Given the description of an element on the screen output the (x, y) to click on. 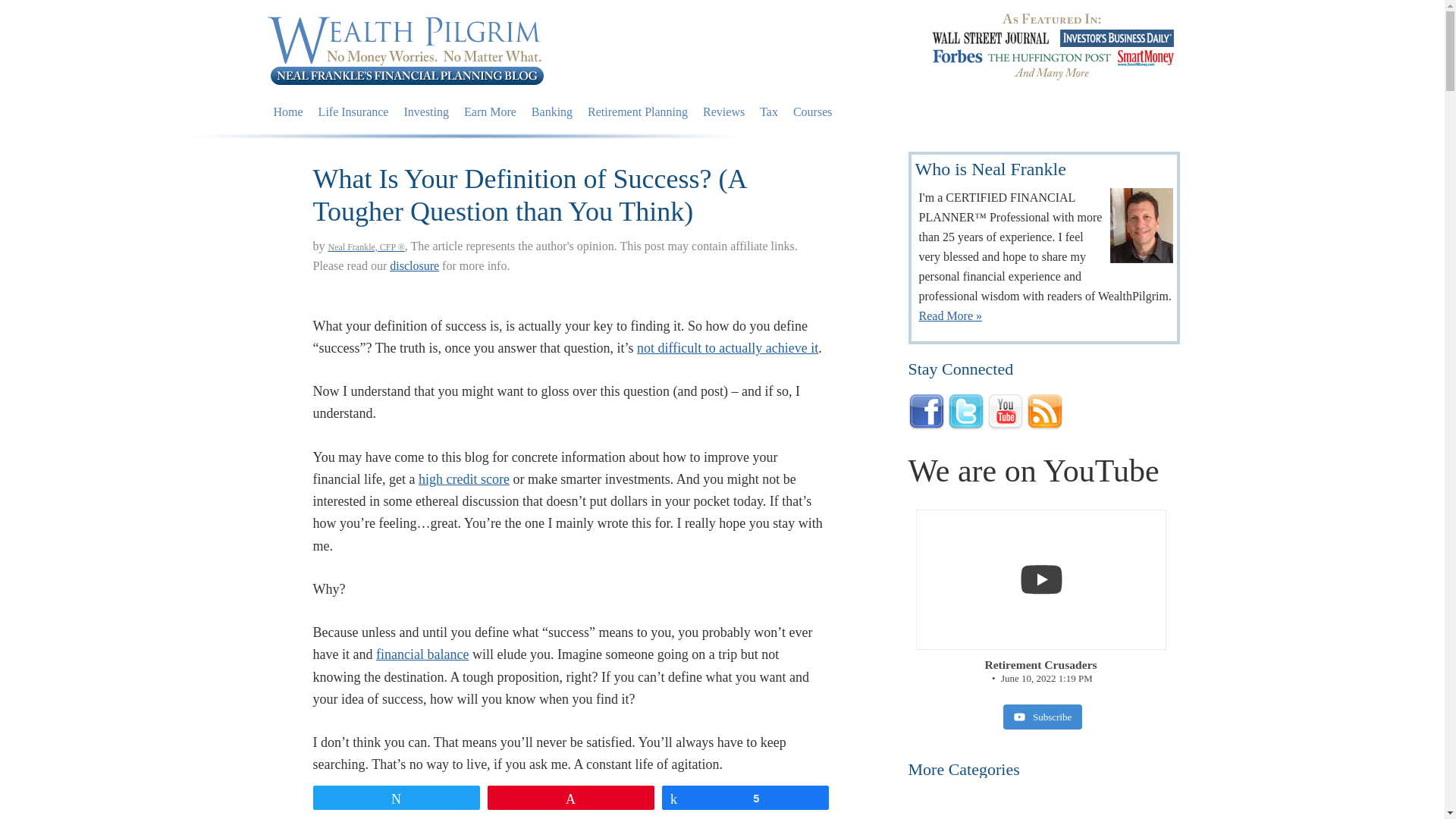
Investing (425, 112)
Reviews (724, 112)
Earn More (490, 112)
Courses (812, 112)
Tax (769, 112)
Home (287, 112)
Banking (551, 112)
Retirement Planning (637, 112)
Wealth Pilgrim (405, 48)
Life Insurance (353, 112)
